Given the description of an element on the screen output the (x, y) to click on. 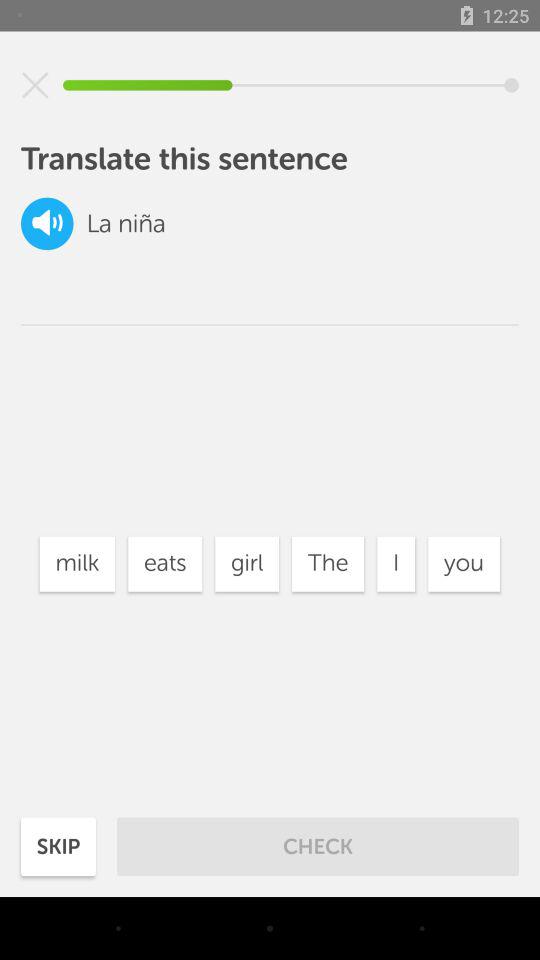
it will exit the screen (35, 85)
